Given the description of an element on the screen output the (x, y) to click on. 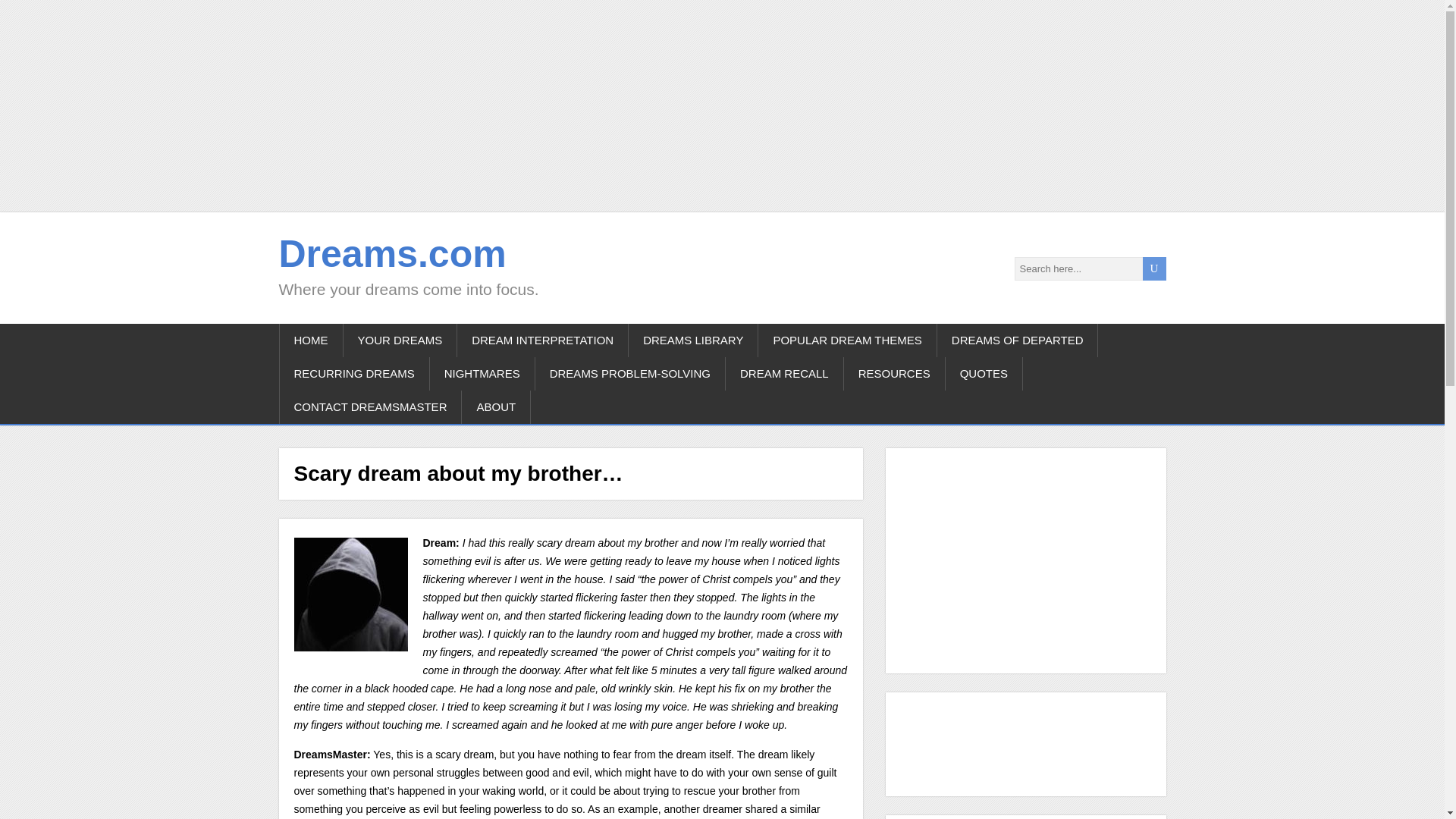
DREAMS LIBRARY (693, 340)
DREAMS OF DEPARTED (1018, 340)
Advertisement (968, 741)
YOUR DREAMS (399, 340)
Dreams.com (392, 253)
NIGHTMARES (482, 373)
DREAM RECALL (784, 373)
ABOUT (496, 407)
U (1153, 268)
U (1153, 268)
